Given the description of an element on the screen output the (x, y) to click on. 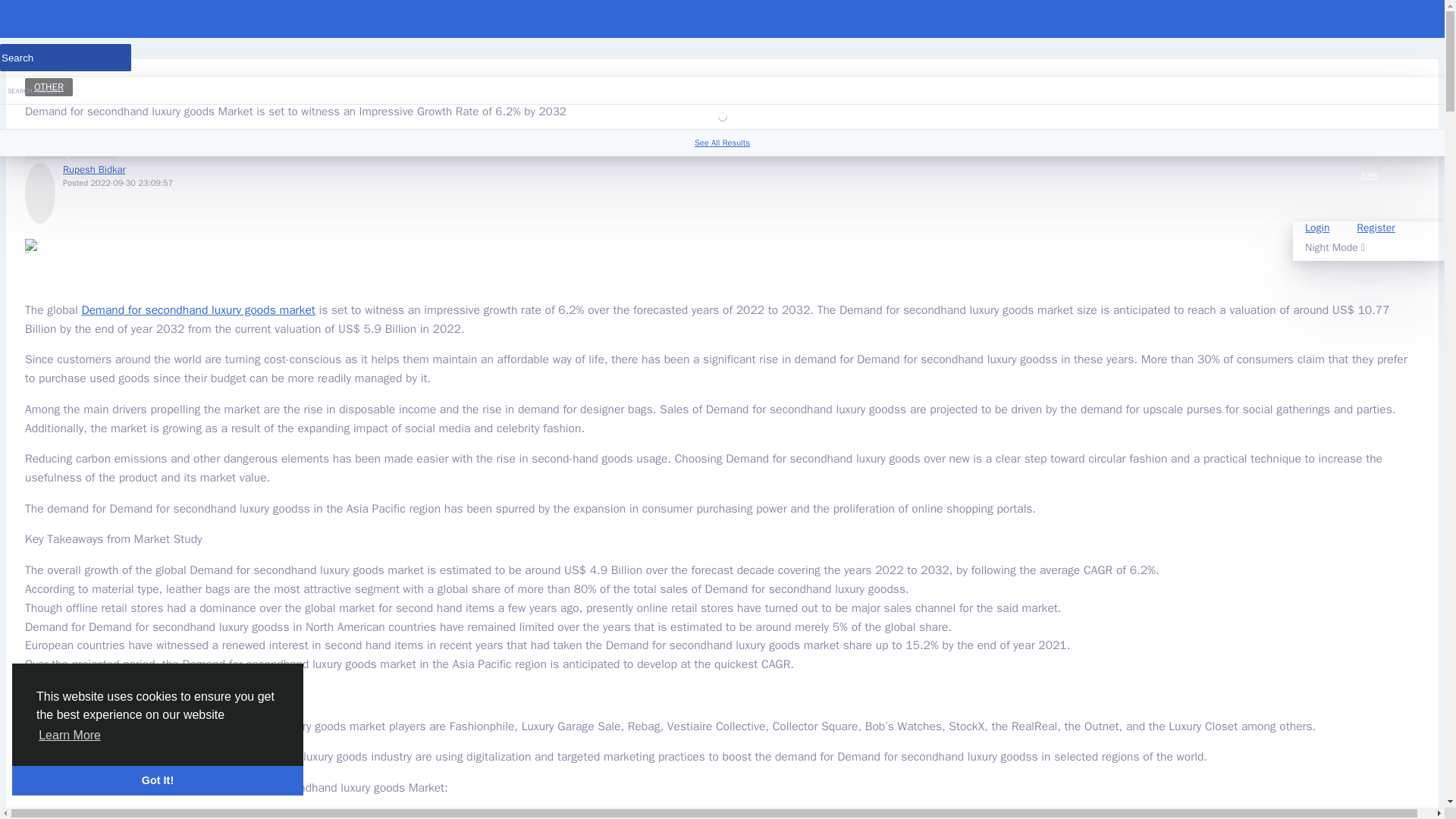
Login (1316, 227)
See All Results (722, 142)
Rupesh Bidkar (93, 169)
Demand for secondhand luxury goods market (197, 309)
OTHER (48, 86)
Register (1374, 227)
Got It! (156, 780)
0 (44, 146)
Join (1368, 188)
Learn More (69, 734)
